Given the description of an element on the screen output the (x, y) to click on. 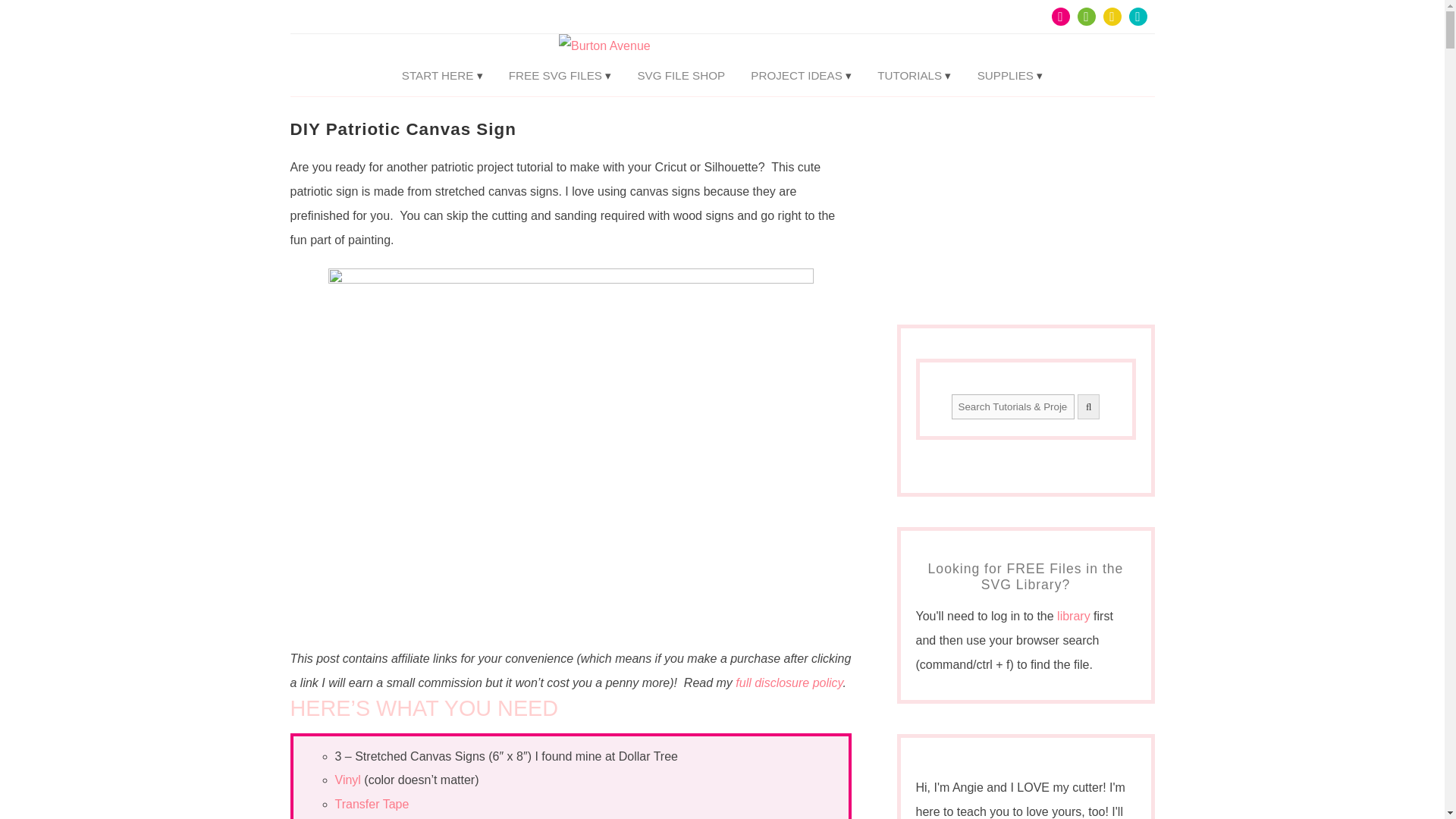
START HERE (442, 75)
TUTORIALS (914, 75)
SVG FILE SHOP (681, 75)
DIY Patriotic Canvas Sign (402, 128)
Burton Avenue (722, 46)
FREE SVG FILES (560, 75)
PROJECT IDEAS (801, 75)
SUPPLIES (1010, 75)
